Given the description of an element on the screen output the (x, y) to click on. 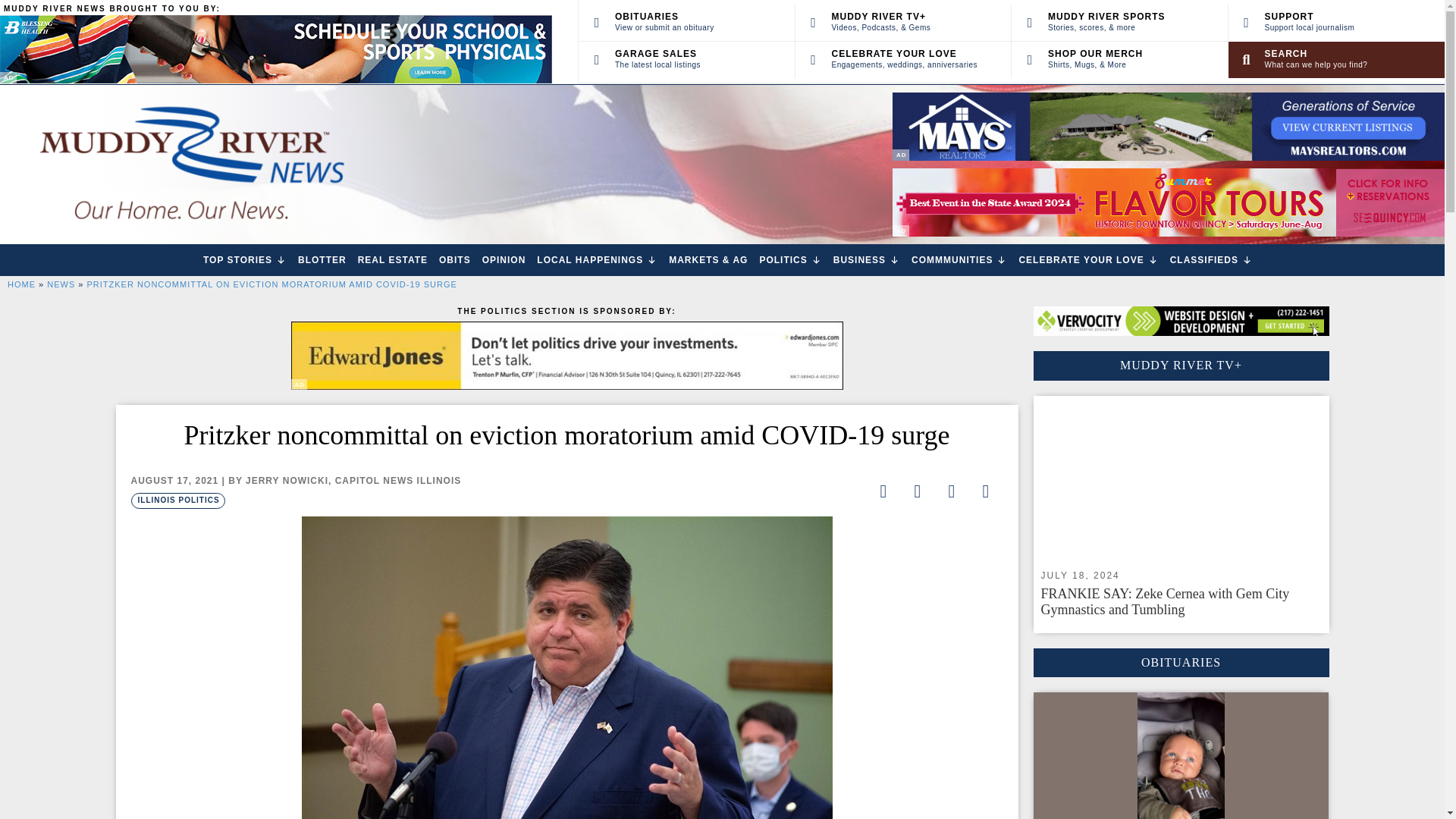
cropped-MRN-final-with-tag.png (189, 164)
